Given the description of an element on the screen output the (x, y) to click on. 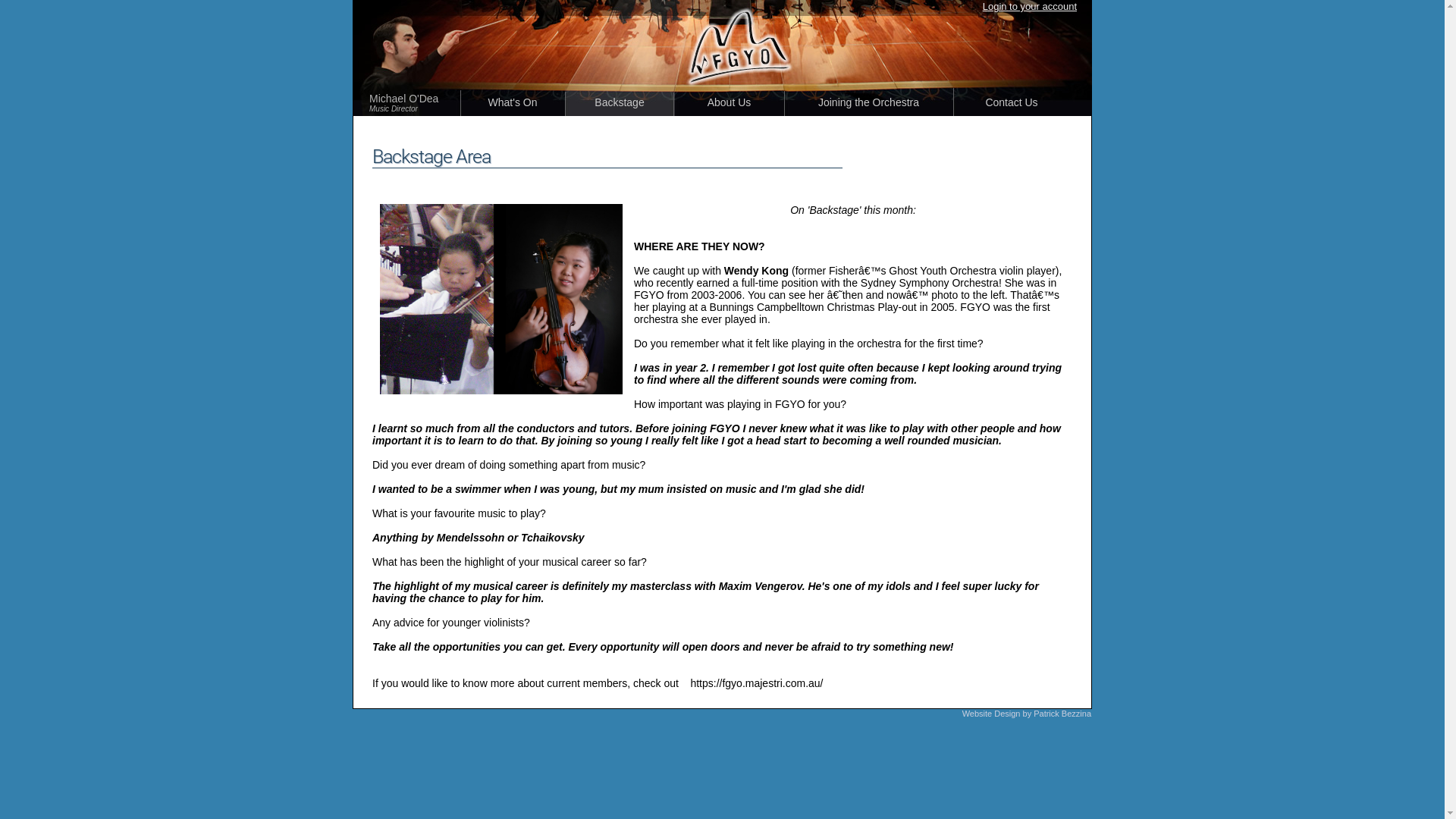
Login to your account Element type: text (1029, 6)
About Us Element type: text (729, 102)
Michael O'Dea
Music Director Element type: text (414, 102)
What's On Element type: text (512, 102)
Joining the Orchestra Element type: text (868, 102)
Website Design by Patrick Bezzina Element type: text (1026, 712)
Backstage Element type: text (619, 102)
Contact Us Element type: text (1011, 102)
